Given the description of an element on the screen output the (x, y) to click on. 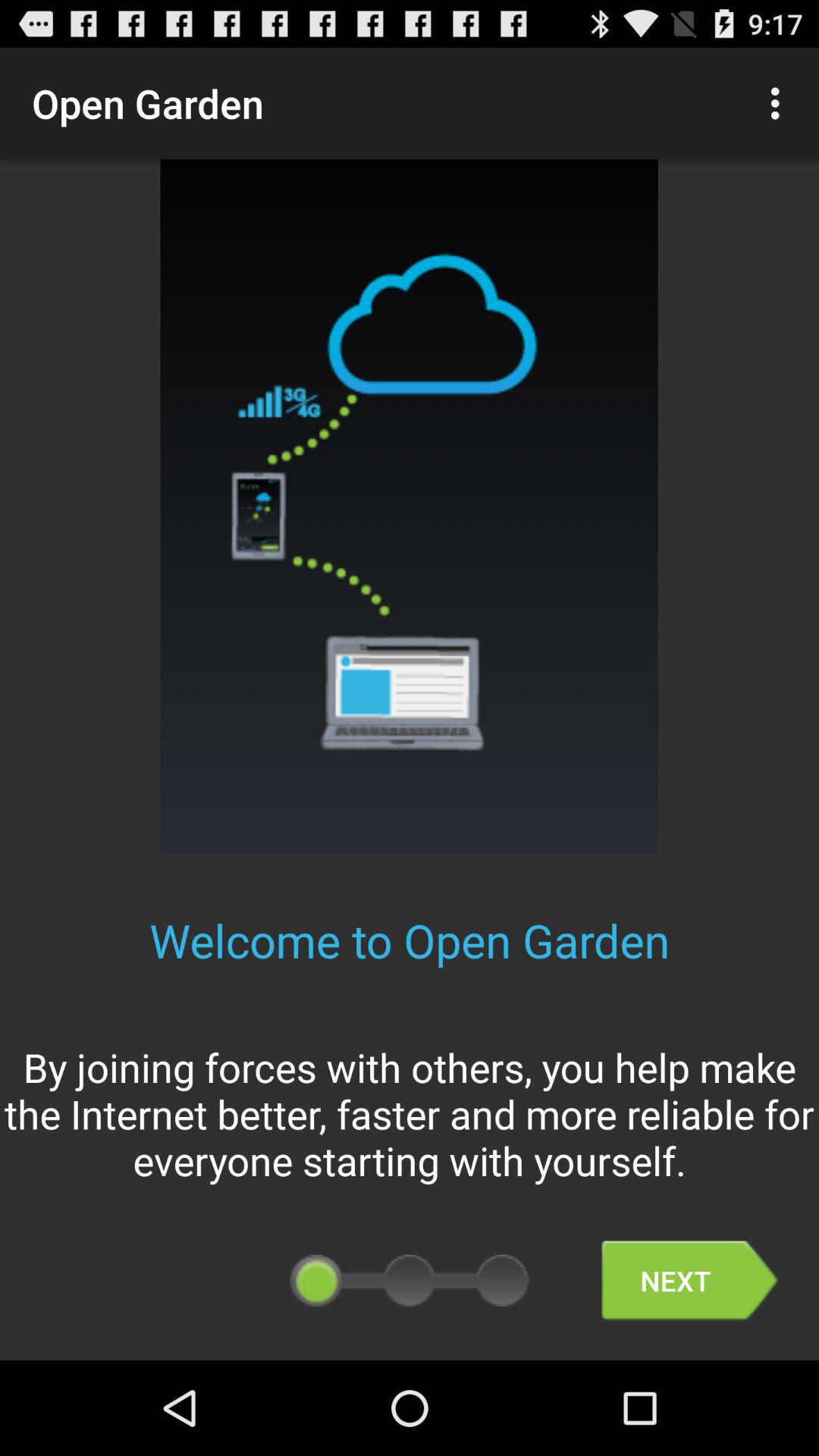
select the item at the top right corner (779, 103)
